Given the description of an element on the screen output the (x, y) to click on. 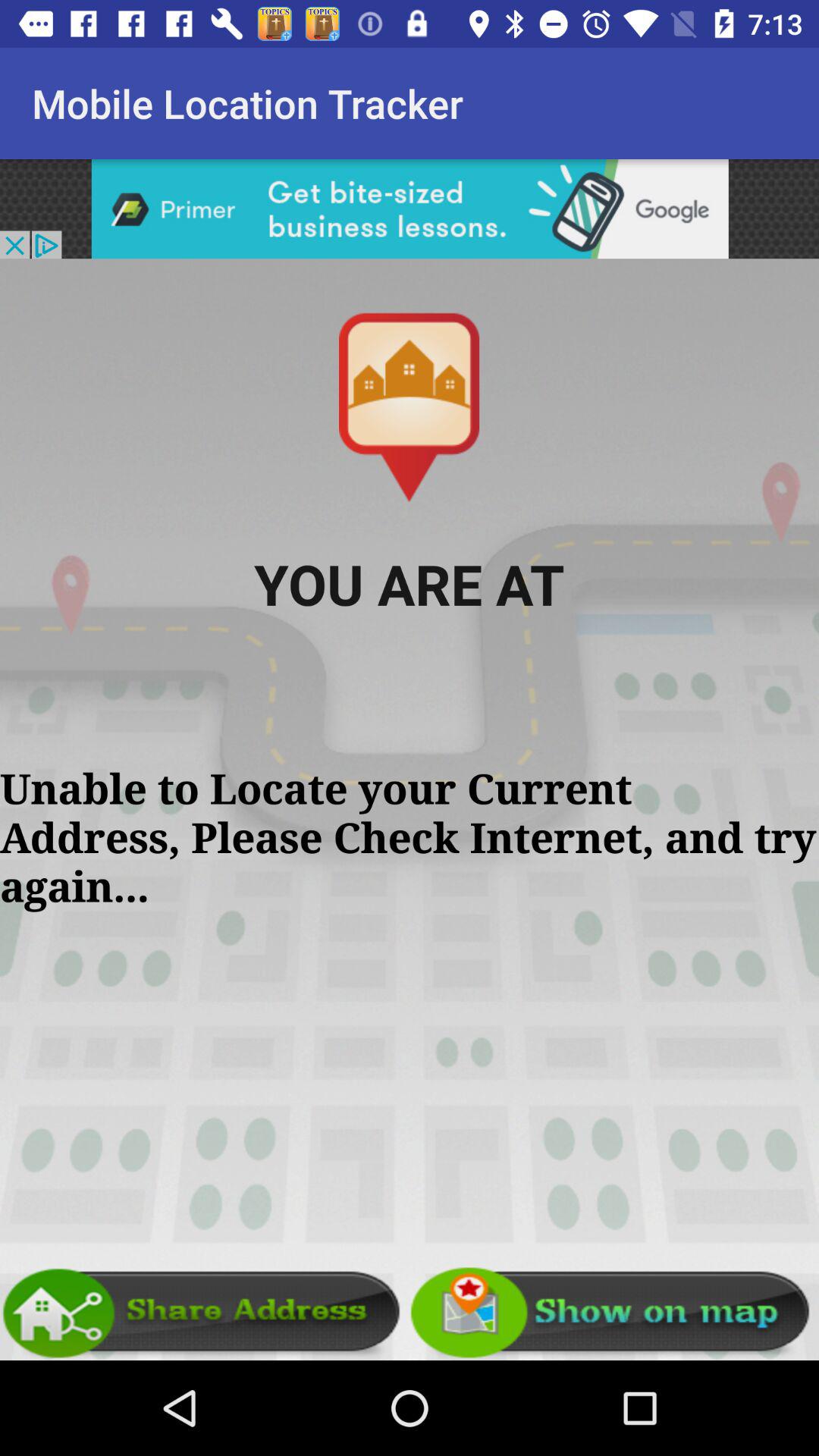
show on map option (614, 1312)
